Given the description of an element on the screen output the (x, y) to click on. 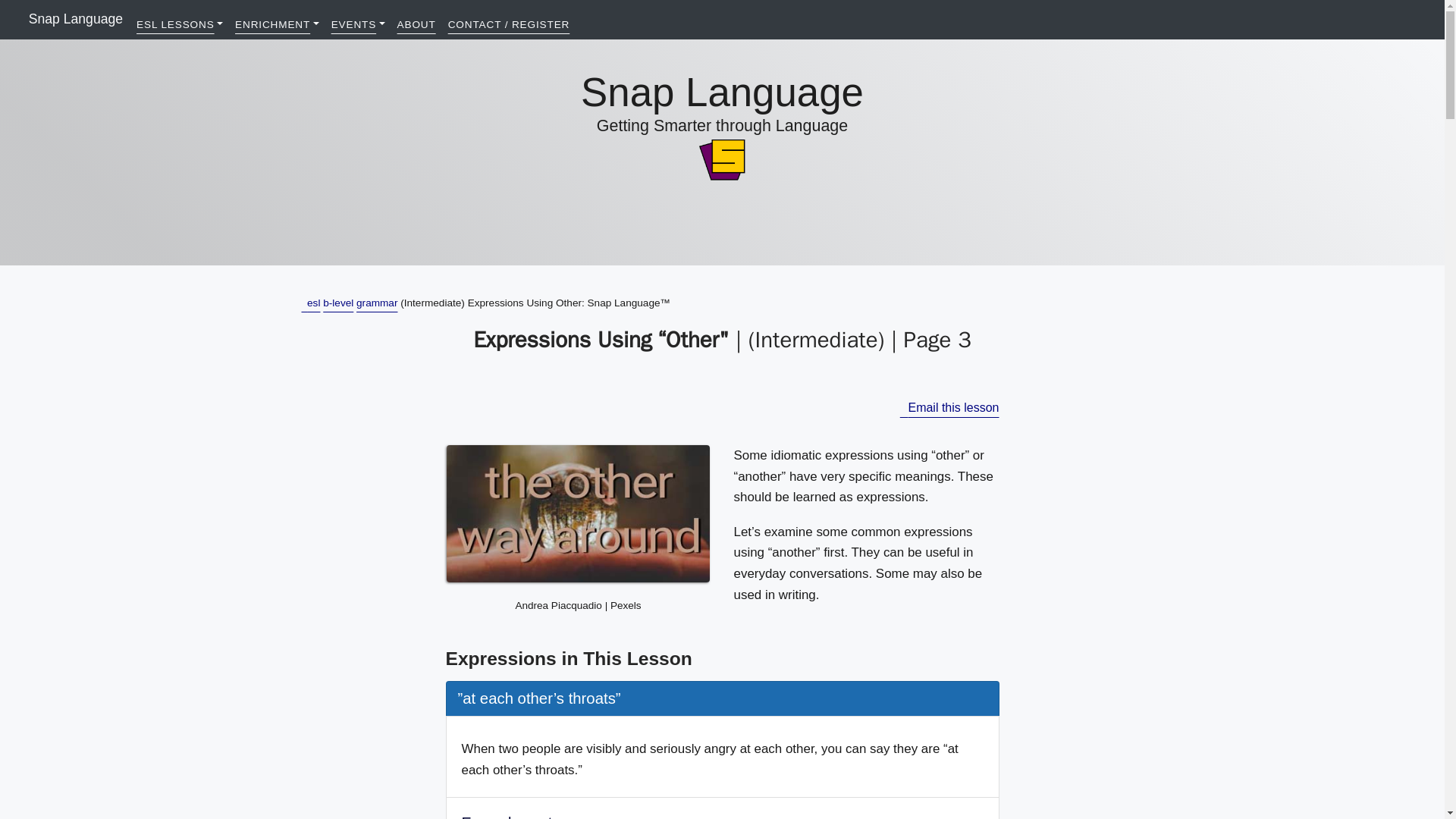
Email the link to this page to yourself and to others. (948, 407)
grammar (376, 302)
ABOUT (416, 24)
ESL LESSONS (179, 24)
ENRICHMENT (276, 24)
b-level (338, 302)
Choose a level from the drop-down menu. (354, 24)
Choose a level from the drop-down menu. (272, 24)
EVENTS (357, 24)
